Given the description of an element on the screen output the (x, y) to click on. 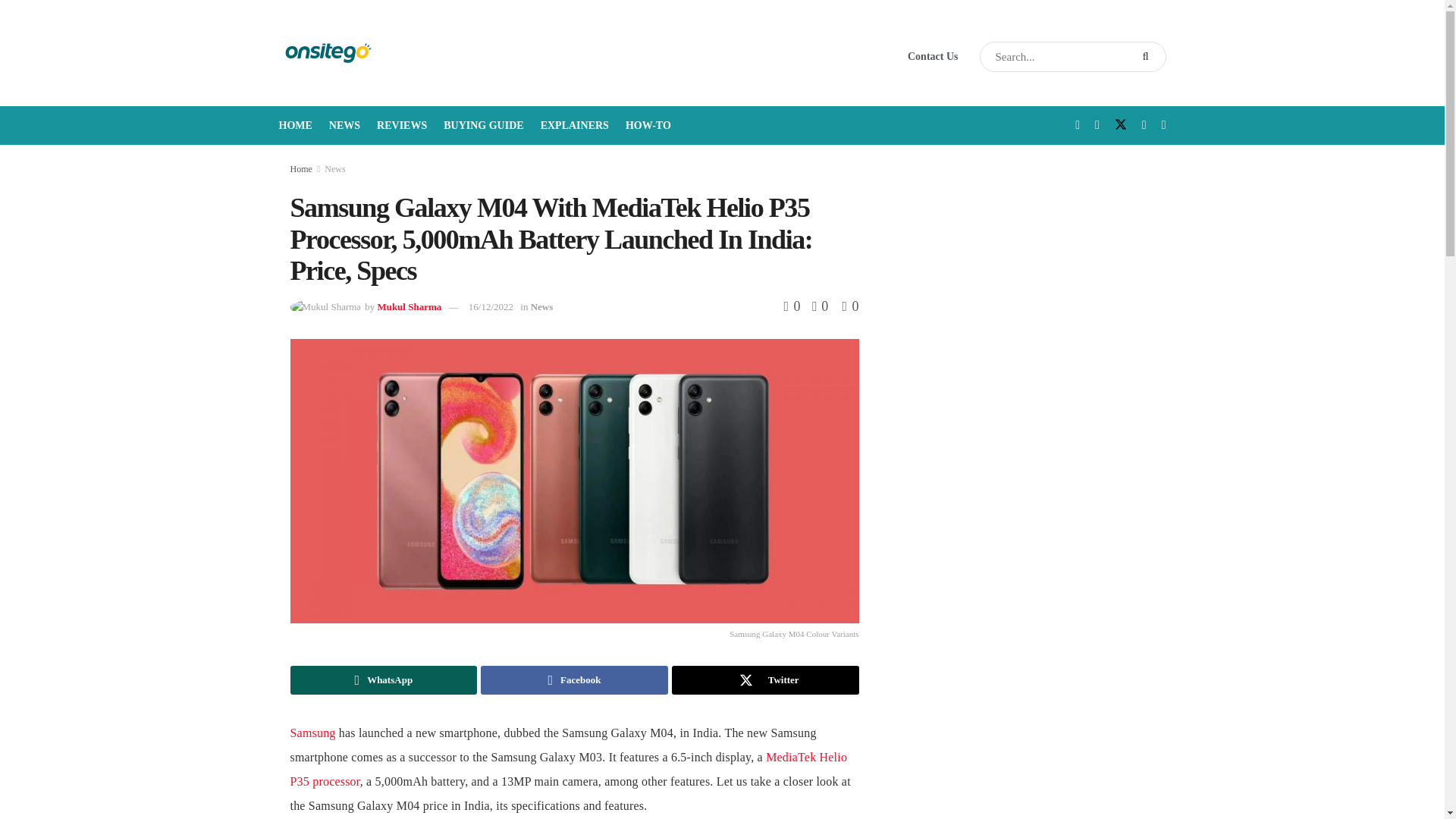
EXPLAINERS (574, 125)
REVIEWS (401, 125)
Home (300, 168)
0 (850, 305)
News (542, 306)
News (334, 168)
Facebook (574, 679)
Mukul Sharma (409, 306)
HOME (296, 125)
